Given the description of an element on the screen output the (x, y) to click on. 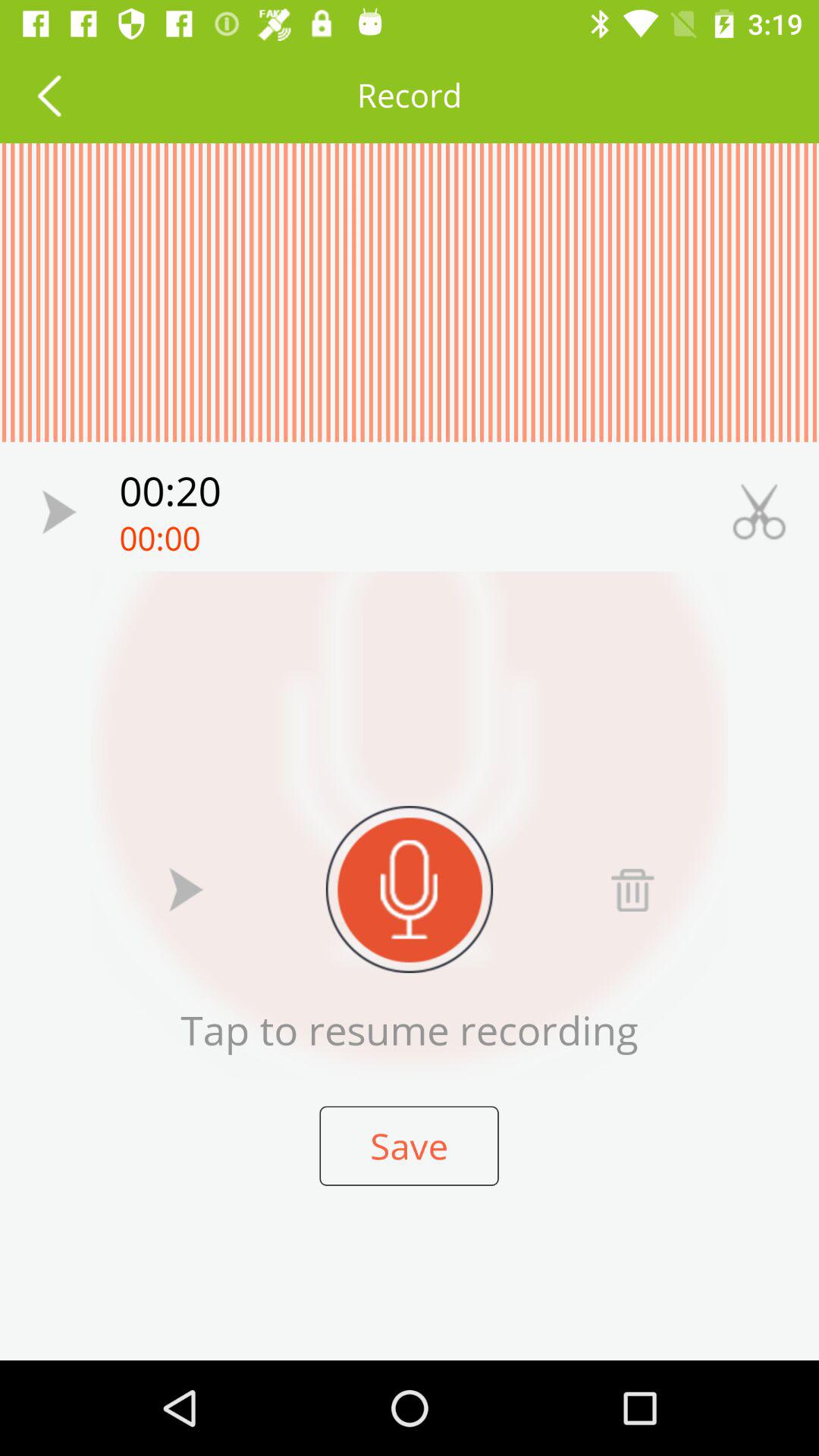
go back (48, 95)
